Given the description of an element on the screen output the (x, y) to click on. 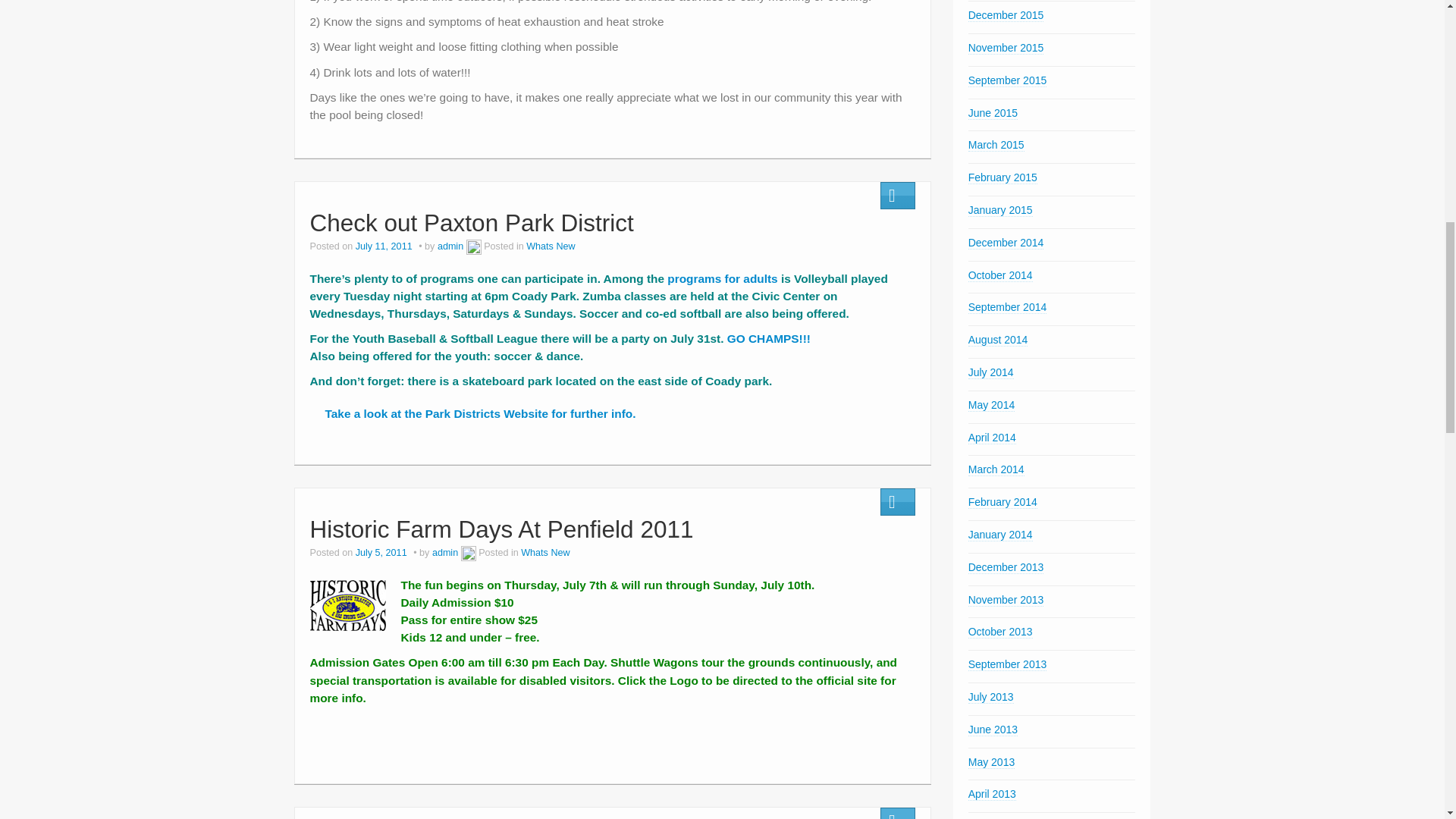
programs for adults (721, 278)
July 5, 2011 (382, 552)
July 11, 2011 (384, 245)
Whats New (545, 552)
Take a look at the Park Districts Website for further info. (471, 419)
Whats New (550, 245)
Historic Farm Days At Penfield 2011 (500, 528)
View all posts by admin (450, 245)
admin (445, 552)
Permalink to Check out Paxton Park District (470, 222)
